Given the description of an element on the screen output the (x, y) to click on. 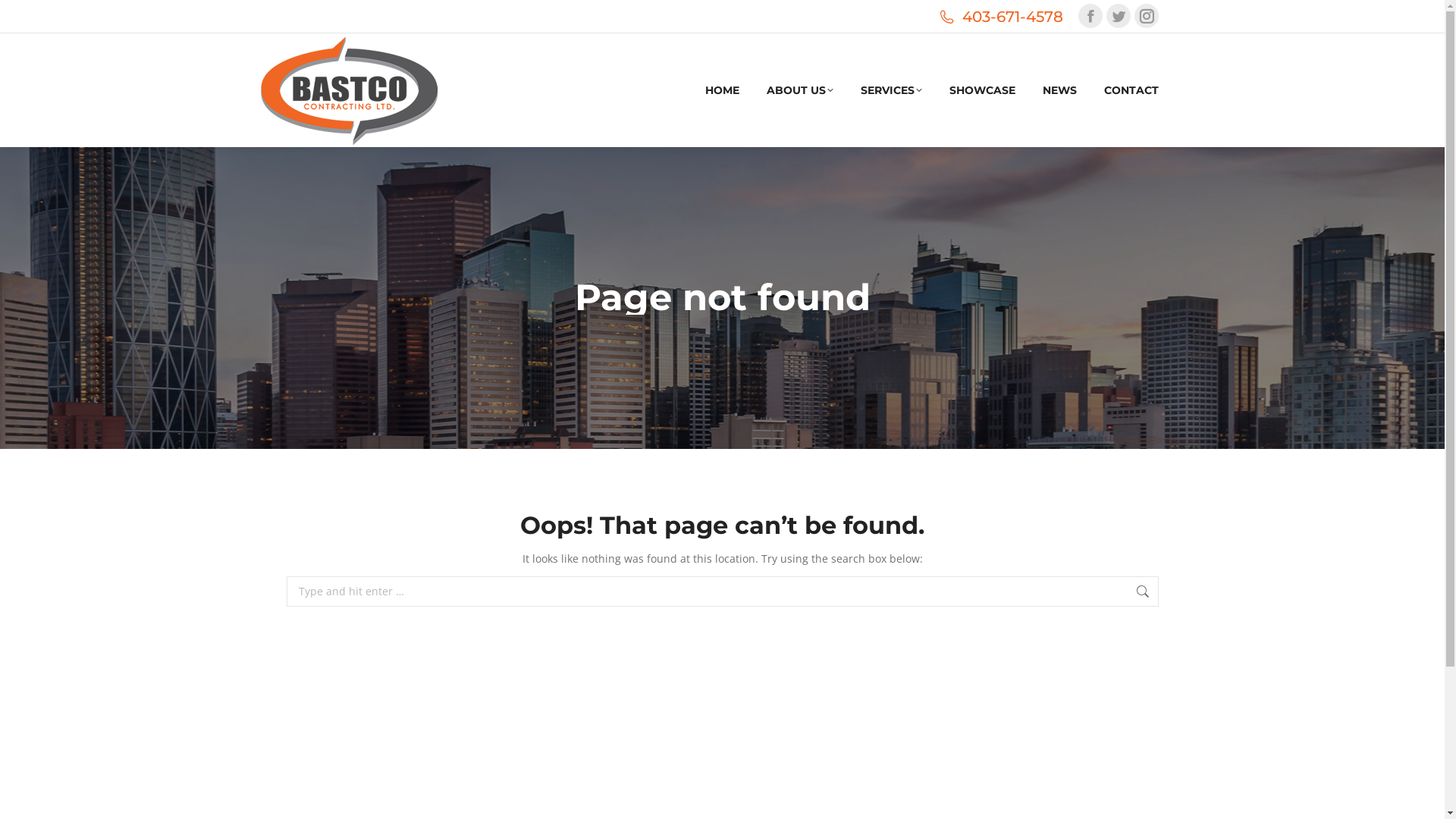
NEWS Element type: text (1058, 89)
HOME Element type: text (722, 89)
Instagram page opens in new window Element type: text (1146, 15)
Facebook page opens in new window Element type: text (1090, 15)
ABOUT US Element type: text (798, 89)
Twitter page opens in new window Element type: text (1118, 15)
CONTACT Element type: text (1131, 89)
Go! Element type: text (1182, 592)
SHOWCASE Element type: text (982, 89)
SERVICES Element type: text (890, 89)
